Given the description of an element on the screen output the (x, y) to click on. 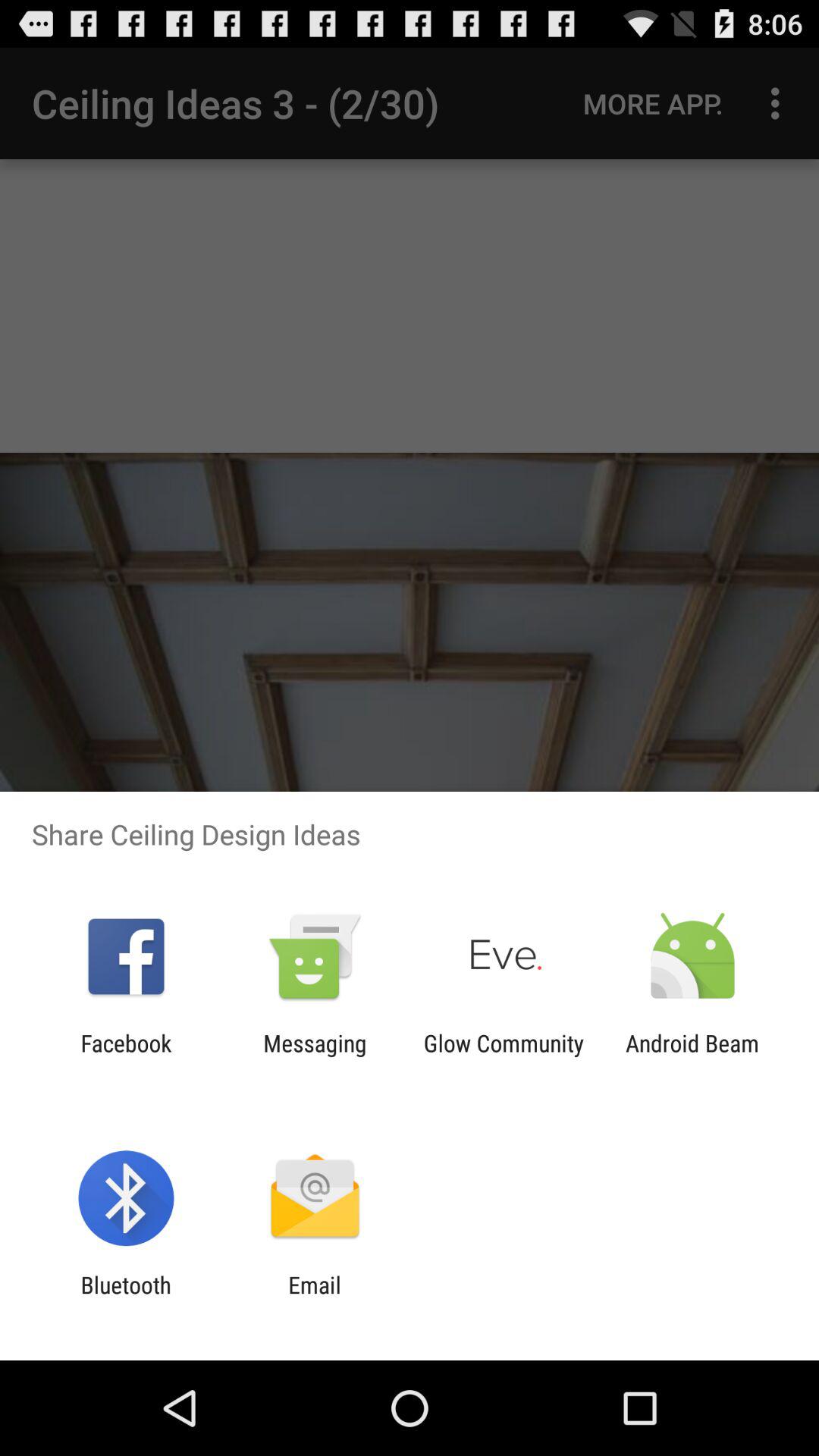
turn off app to the right of the messaging app (503, 1056)
